Given the description of an element on the screen output the (x, y) to click on. 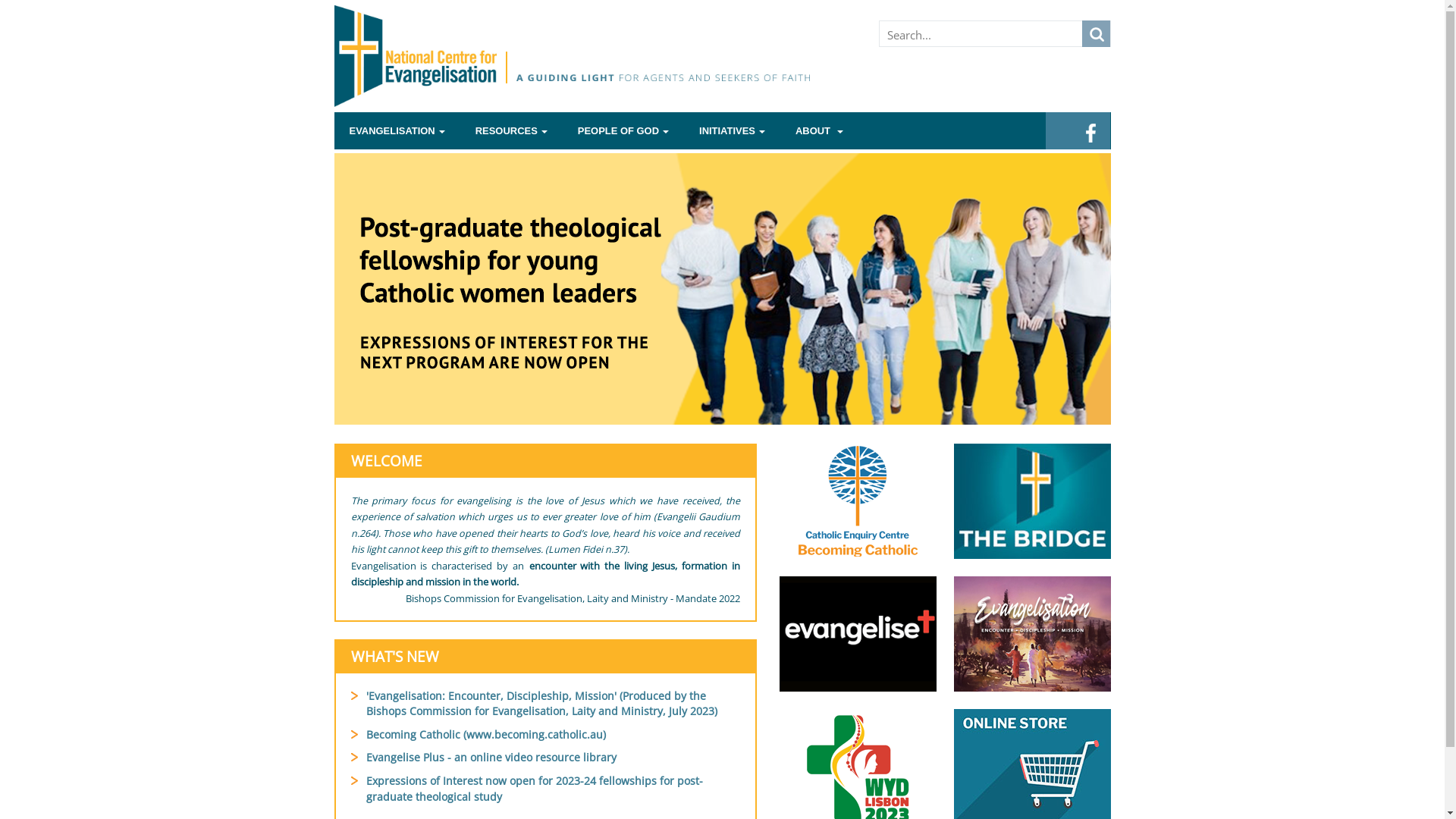
SEARCH Element type: text (1095, 33)
Becoming Catholic (www.becoming.catholic.au) Element type: text (485, 734)
Evangelise Plus - an online video resource library Element type: text (490, 756)
